Given the description of an element on the screen output the (x, y) to click on. 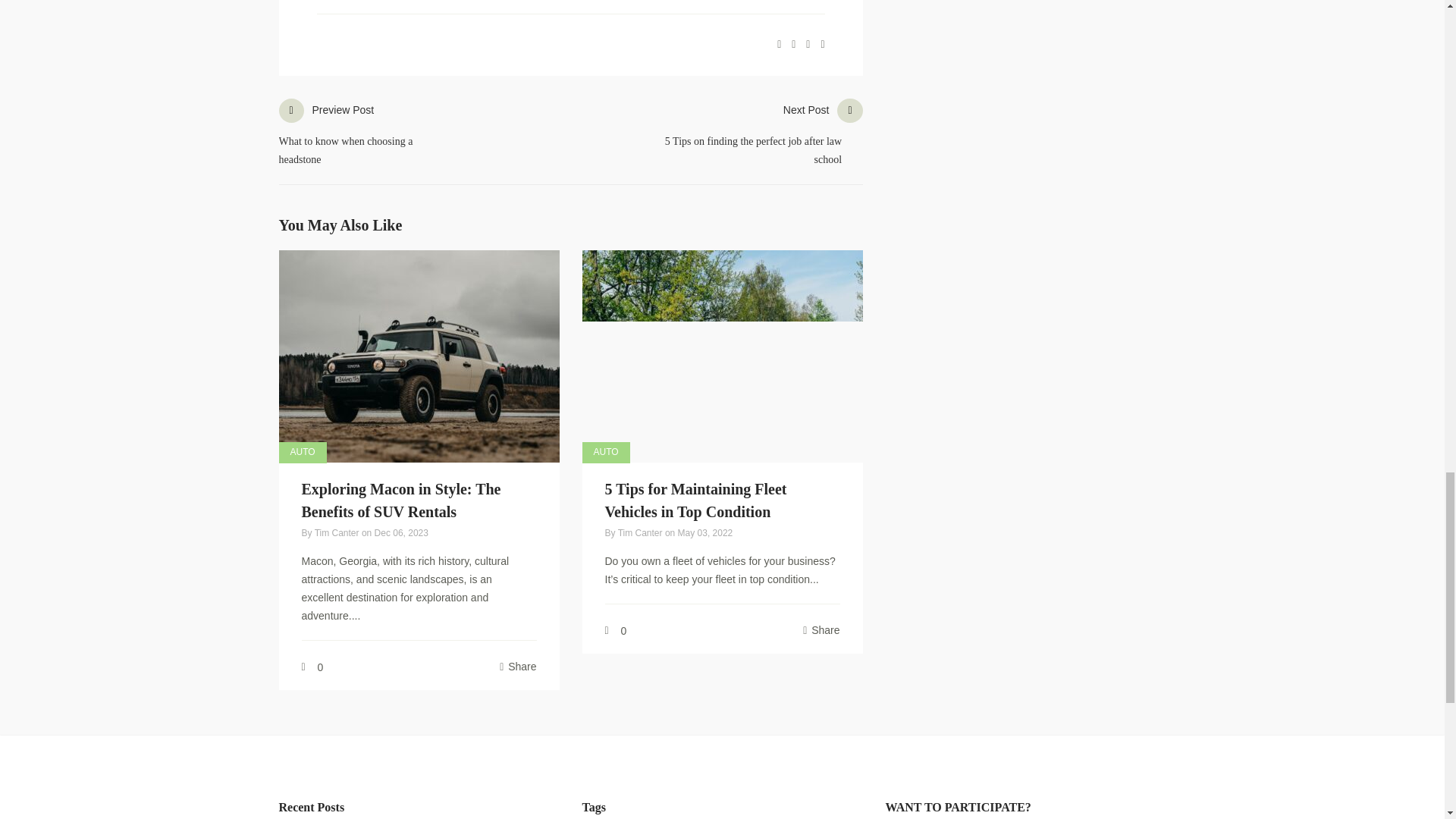
prev post (368, 135)
next post (758, 135)
